Given the description of an element on the screen output the (x, y) to click on. 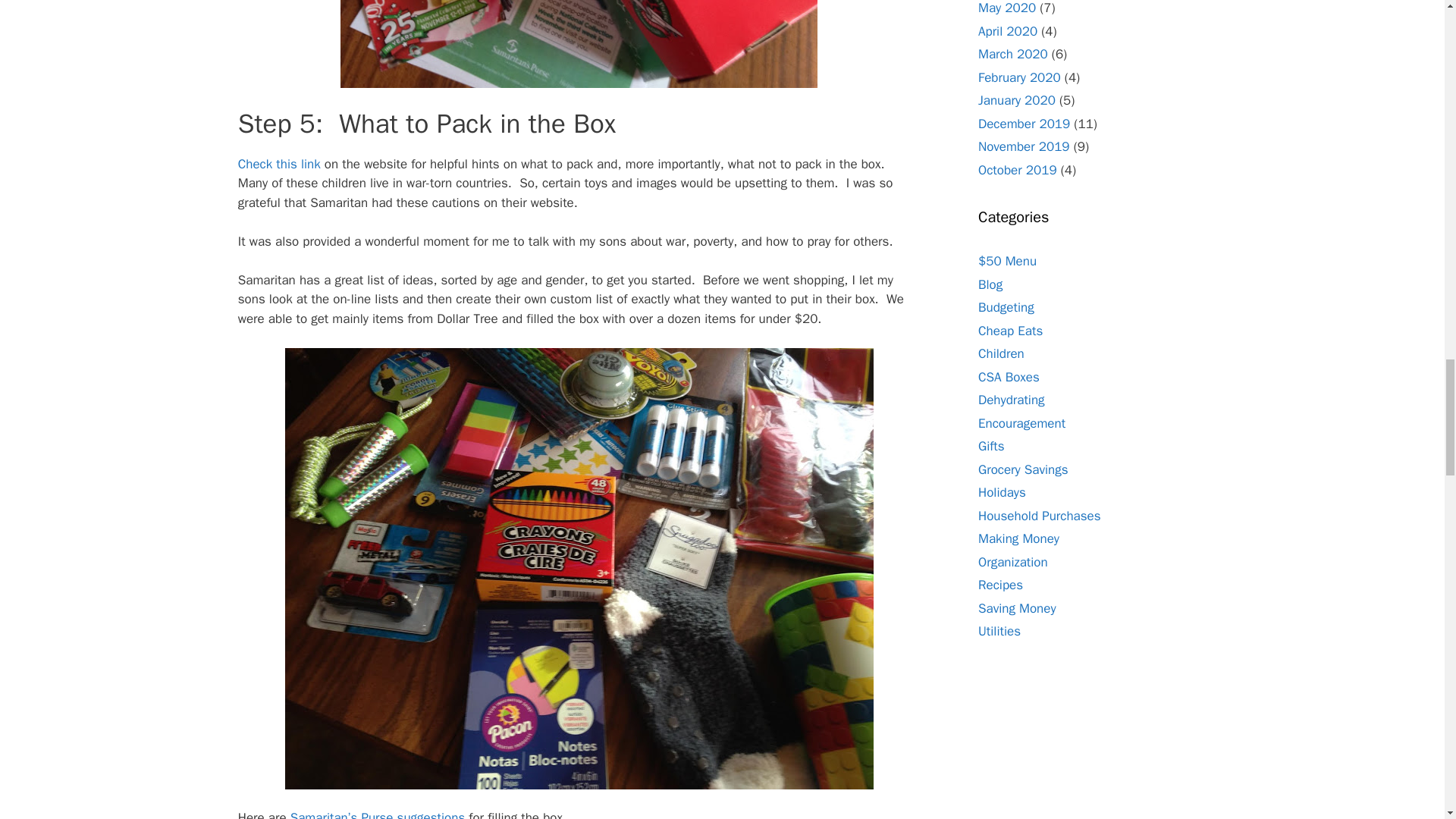
Check this link (279, 163)
